Given the description of an element on the screen output the (x, y) to click on. 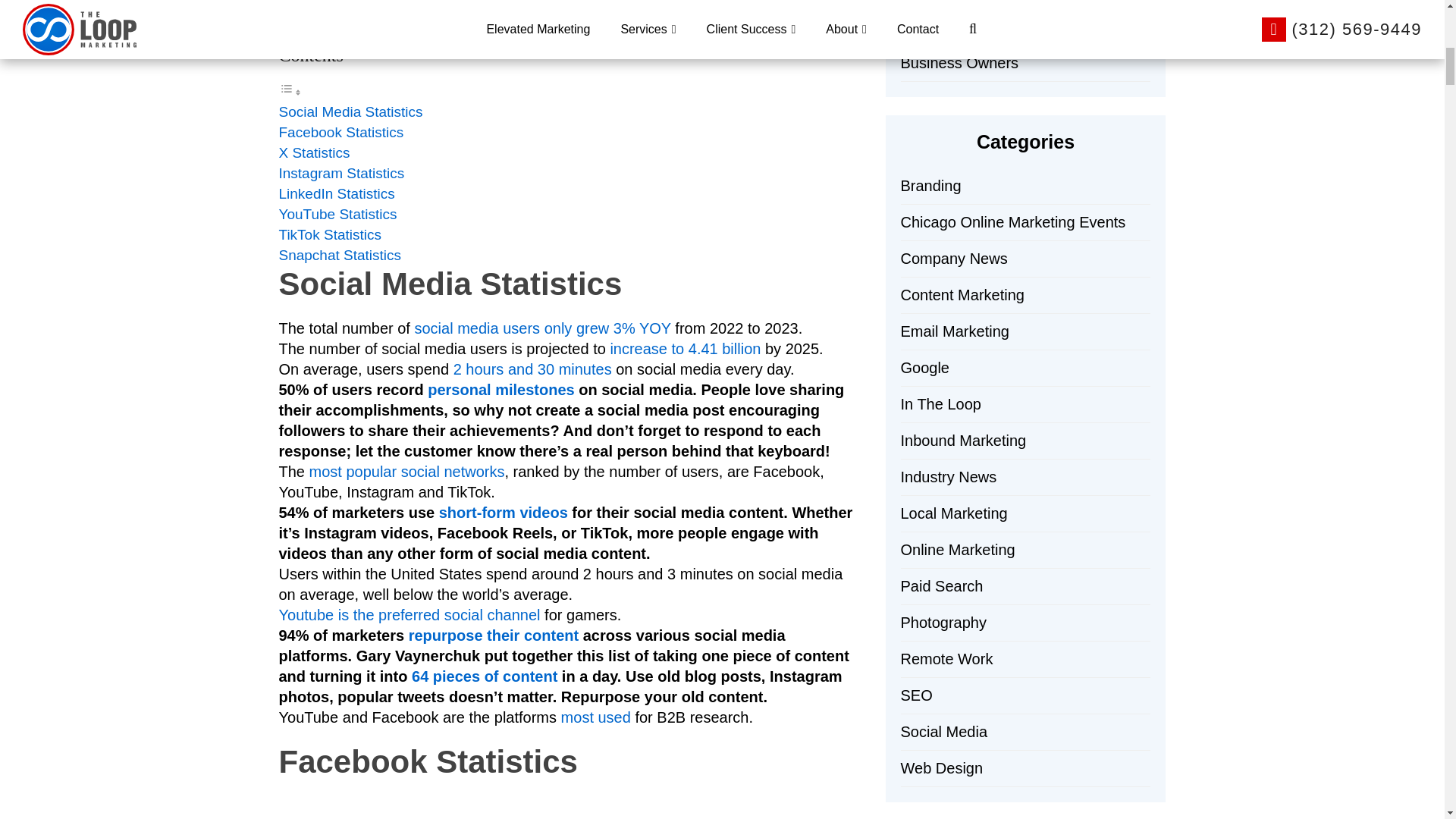
X Statistics (314, 152)
LinkedIn Statistics (336, 193)
Social Media Statistics (351, 111)
TikTok Statistics (330, 234)
YouTube Statistics (338, 213)
Facebook Statistics (341, 132)
Snapchat Statistics (340, 254)
Instagram Statistics (341, 172)
facebook - The Loop Marketing Inc (365, 807)
